Given the description of an element on the screen output the (x, y) to click on. 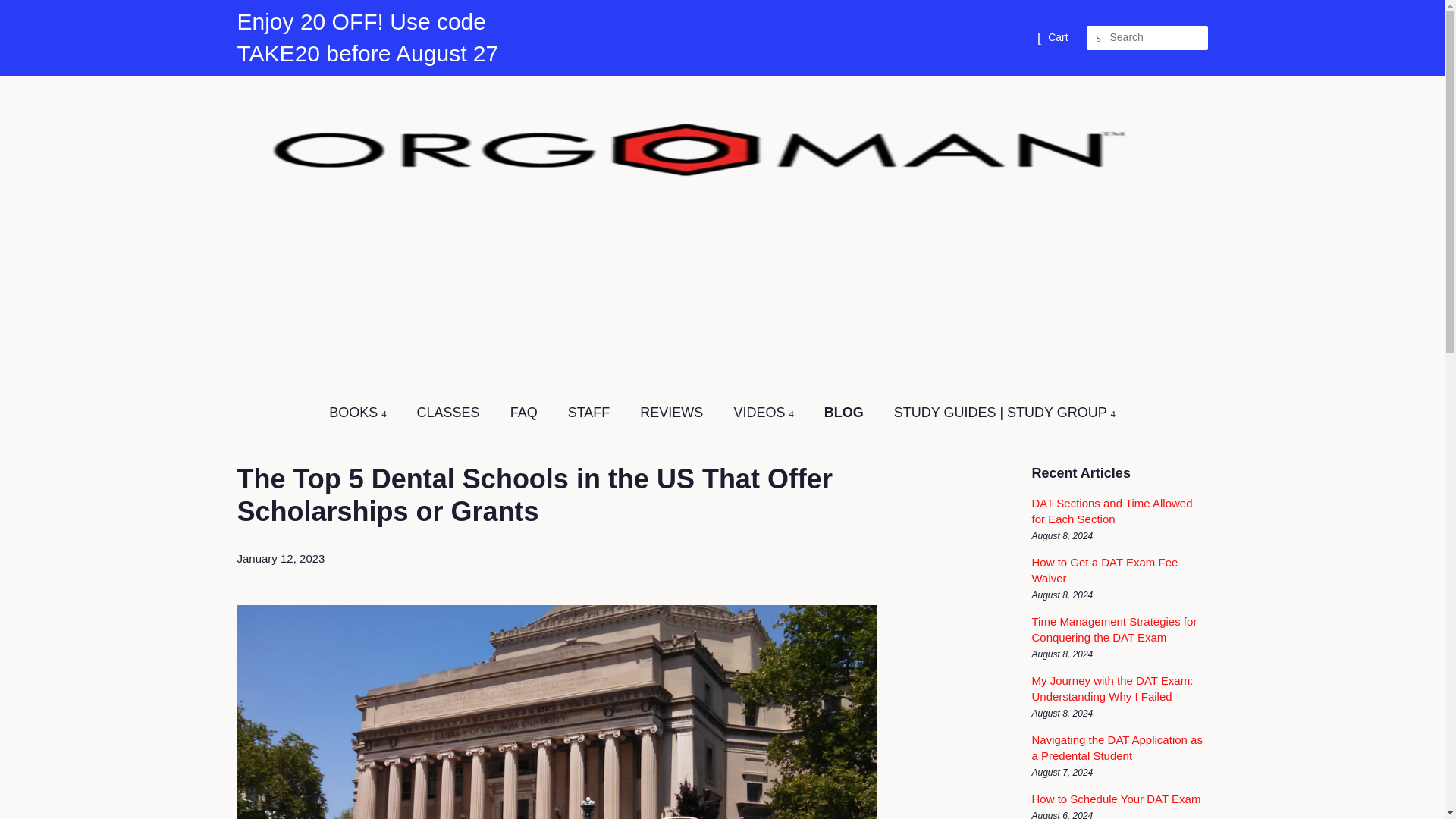
BOOKS (365, 412)
Cart (1057, 37)
SEARCH (1097, 37)
